Given the description of an element on the screen output the (x, y) to click on. 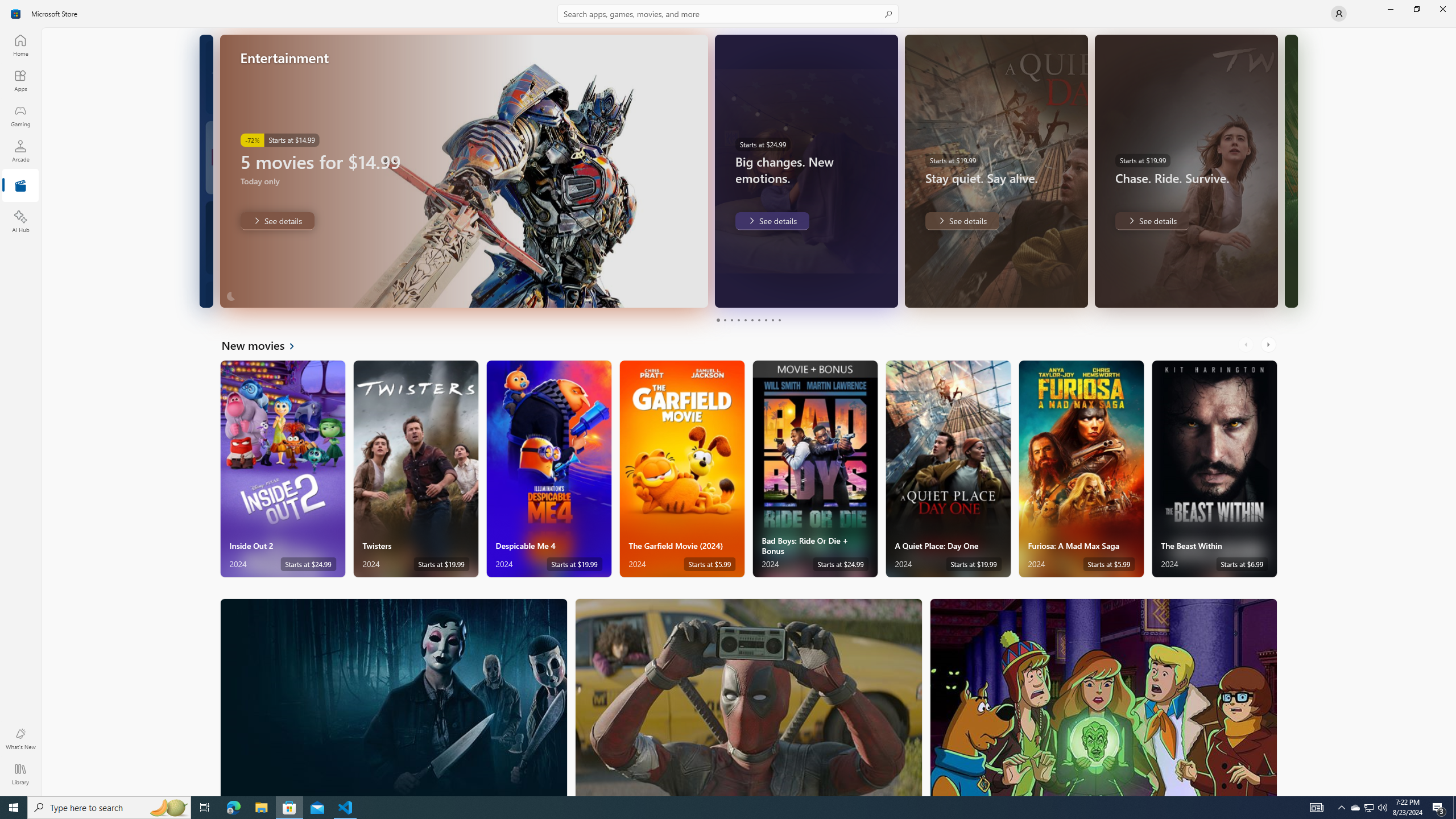
AI Hub (20, 221)
Close Microsoft Store (1442, 9)
Page 10 (779, 319)
Search (727, 13)
Page 9 (772, 319)
AutomationID: Image (1290, 170)
Bad Boys: Ride Or Die + Bonus. Starts at $24.99   (814, 469)
Page 8 (764, 319)
Arcade (20, 150)
Page 7 (758, 319)
